Given the description of an element on the screen output the (x, y) to click on. 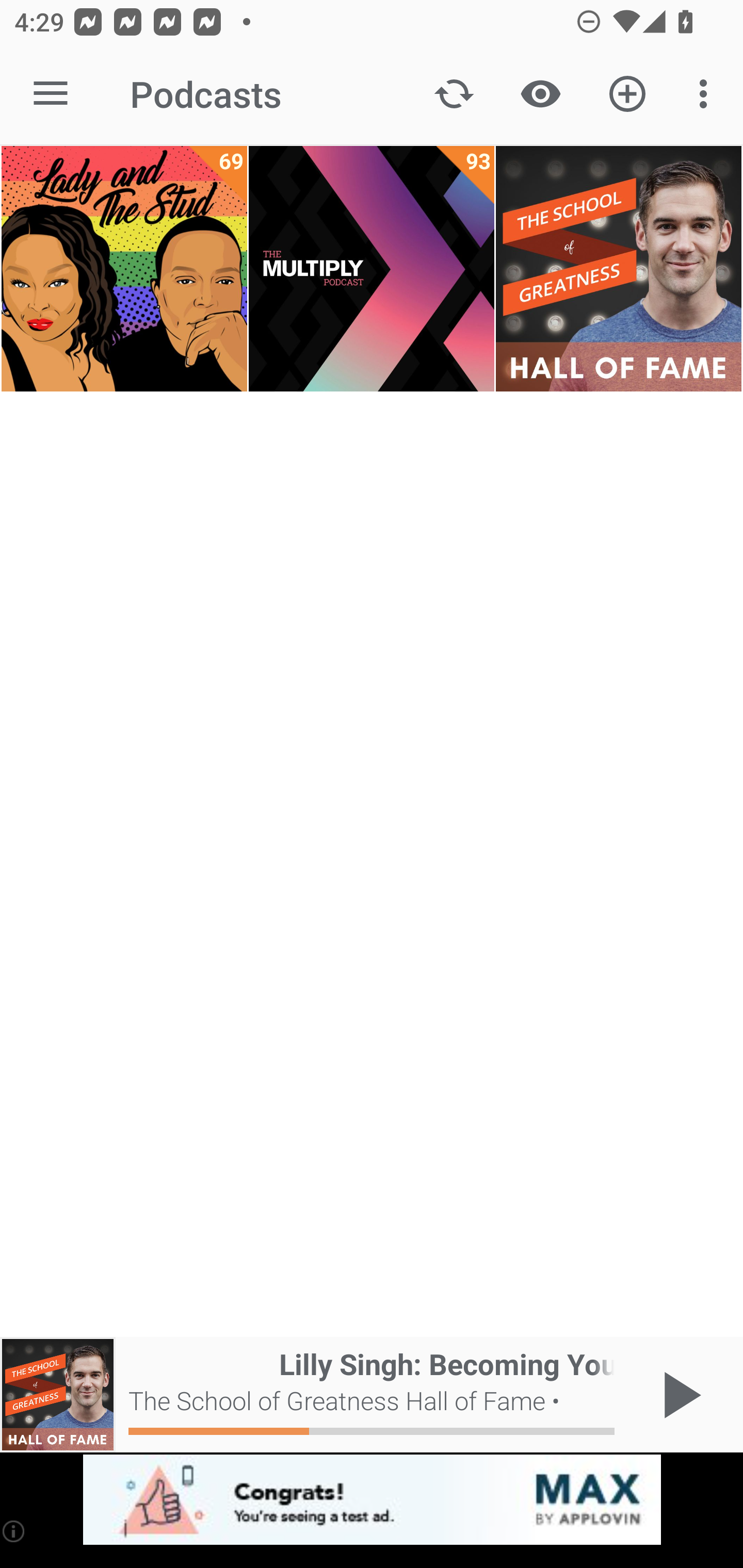
Open navigation sidebar (50, 93)
Update (453, 93)
Show / Hide played content (540, 93)
Add new Podcast (626, 93)
More options (706, 93)
Lady and The Stud 69 (124, 268)
The Multiply Podcast 93 (371, 268)
The School of Greatness Hall of Fame (618, 268)
Play / Pause (677, 1394)
app-monetization (371, 1500)
(i) (14, 1531)
